Given the description of an element on the screen output the (x, y) to click on. 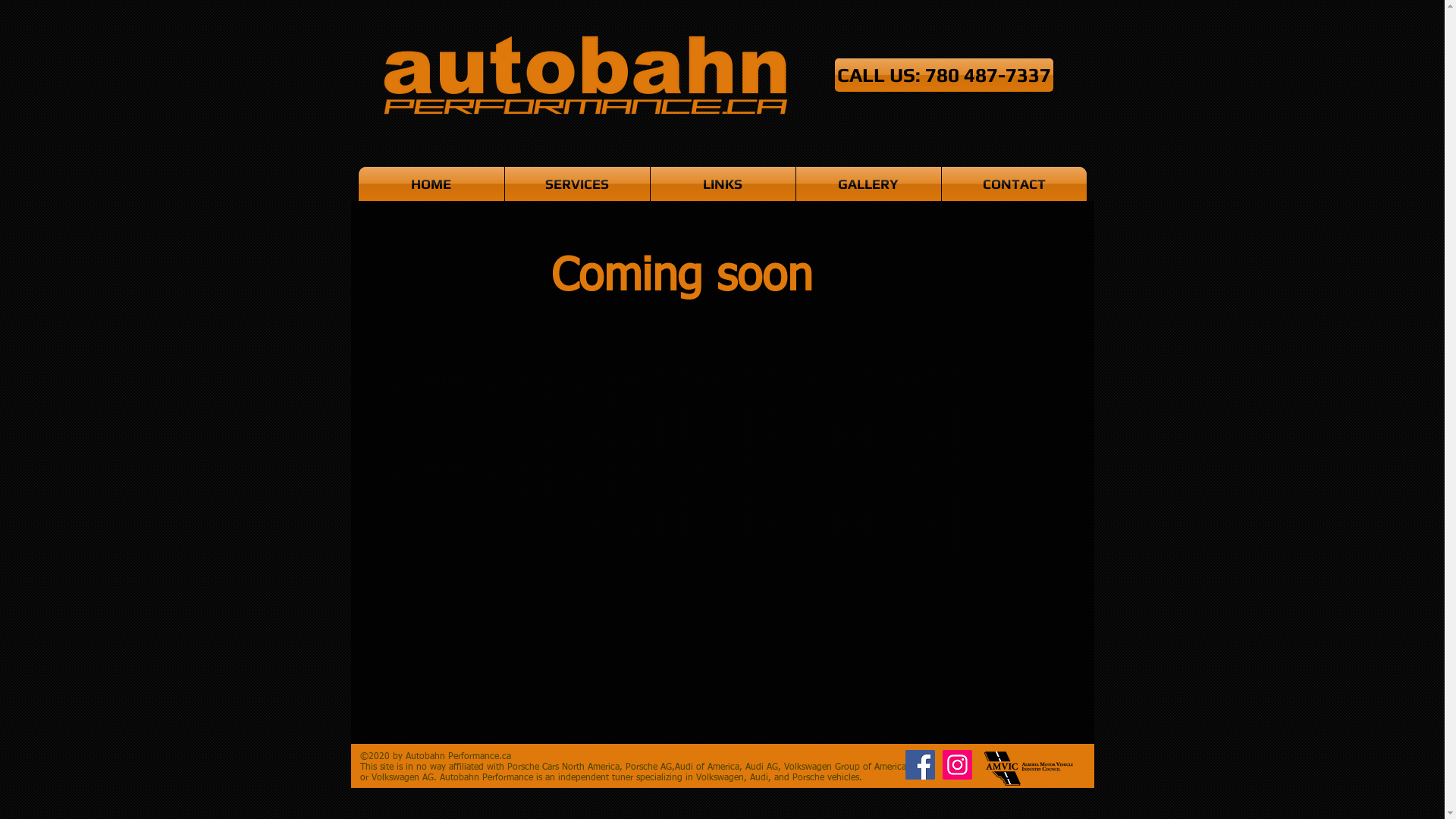
GALLERY Element type: text (868, 183)
CONTACT Element type: text (1013, 183)
HOME Element type: text (430, 183)
LINKS Element type: text (722, 183)
SERVICES Element type: text (577, 183)
CALL US: 780 487-7337 Element type: text (943, 74)
